Given the description of an element on the screen output the (x, y) to click on. 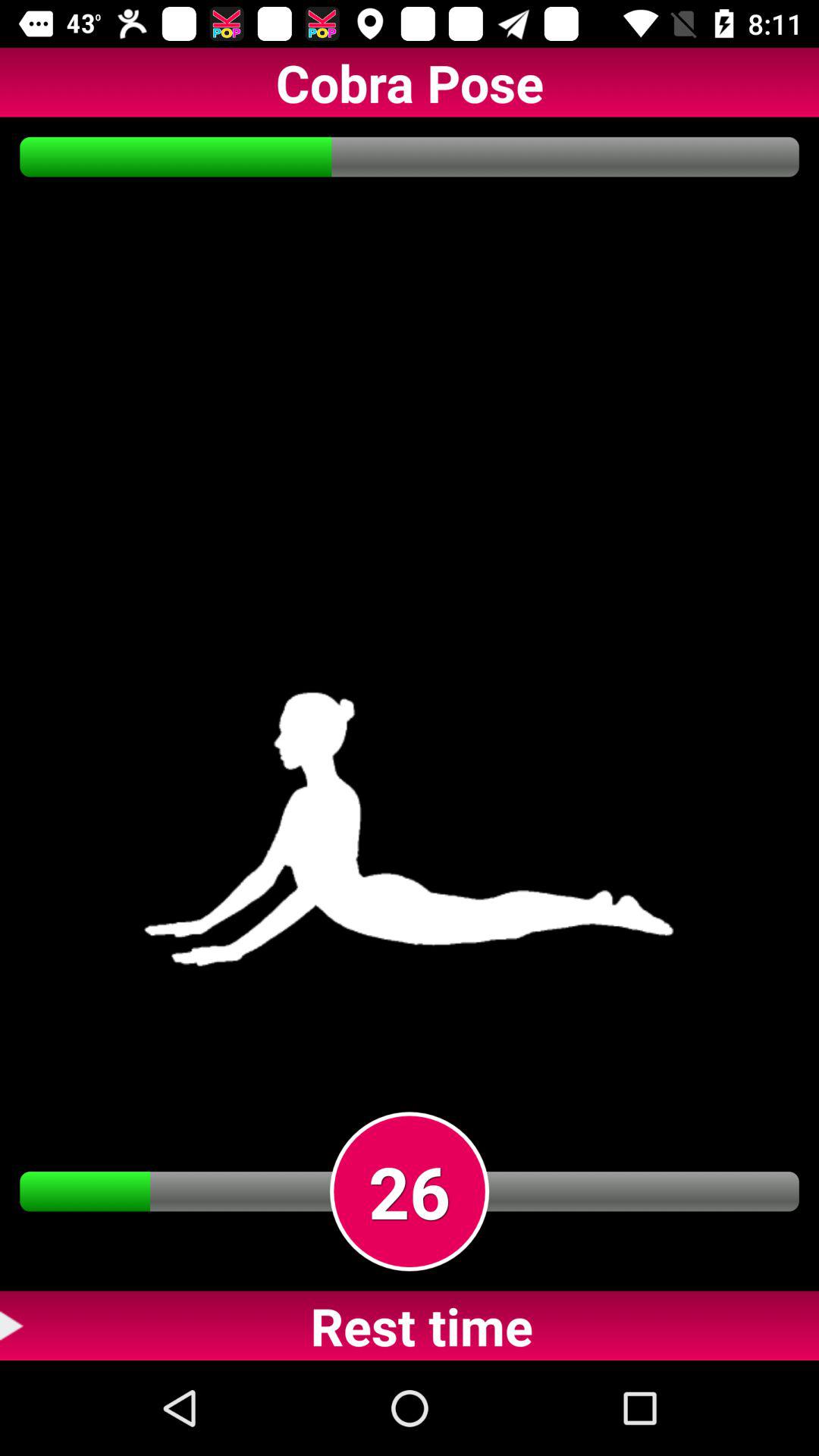
scroll to rest time icon (409, 1325)
